Given the description of an element on the screen output the (x, y) to click on. 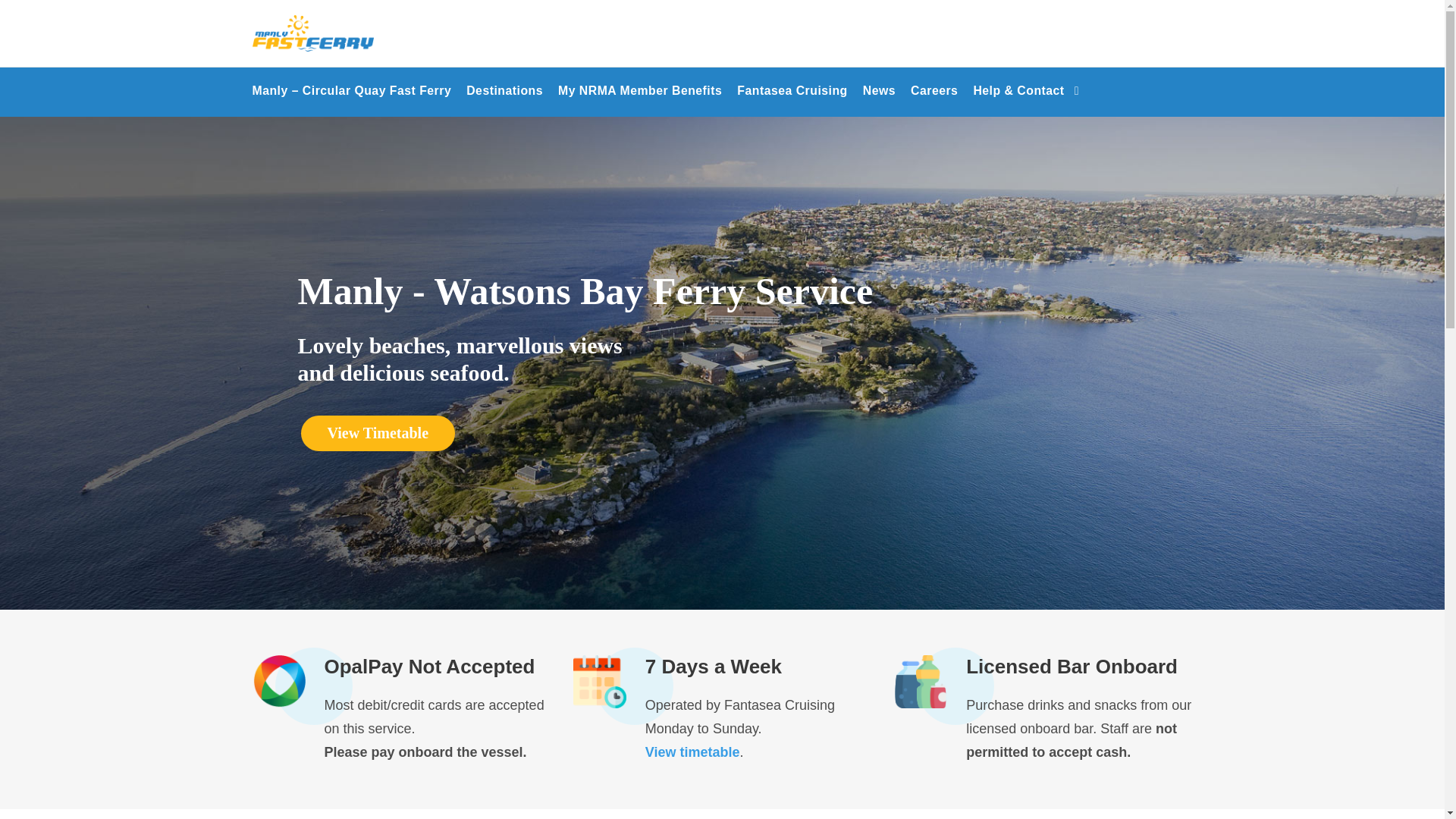
My NRMA Member Benefits Element type: text (639, 98)
Fantasea Cruising Element type: text (792, 98)
Manly Fast Ferry Element type: hover (312, 33)
Careers Element type: text (933, 98)
News Element type: text (878, 98)
Destinations Element type: text (504, 98)
icon_timetable Element type: hover (599, 681)
icon_opalpay Element type: hover (277, 681)
View Timetable Element type: text (377, 433)
Help & Contact Element type: text (1025, 98)
View timetable Element type: text (692, 751)
icon_bar Element type: hover (920, 681)
